Given the description of an element on the screen output the (x, y) to click on. 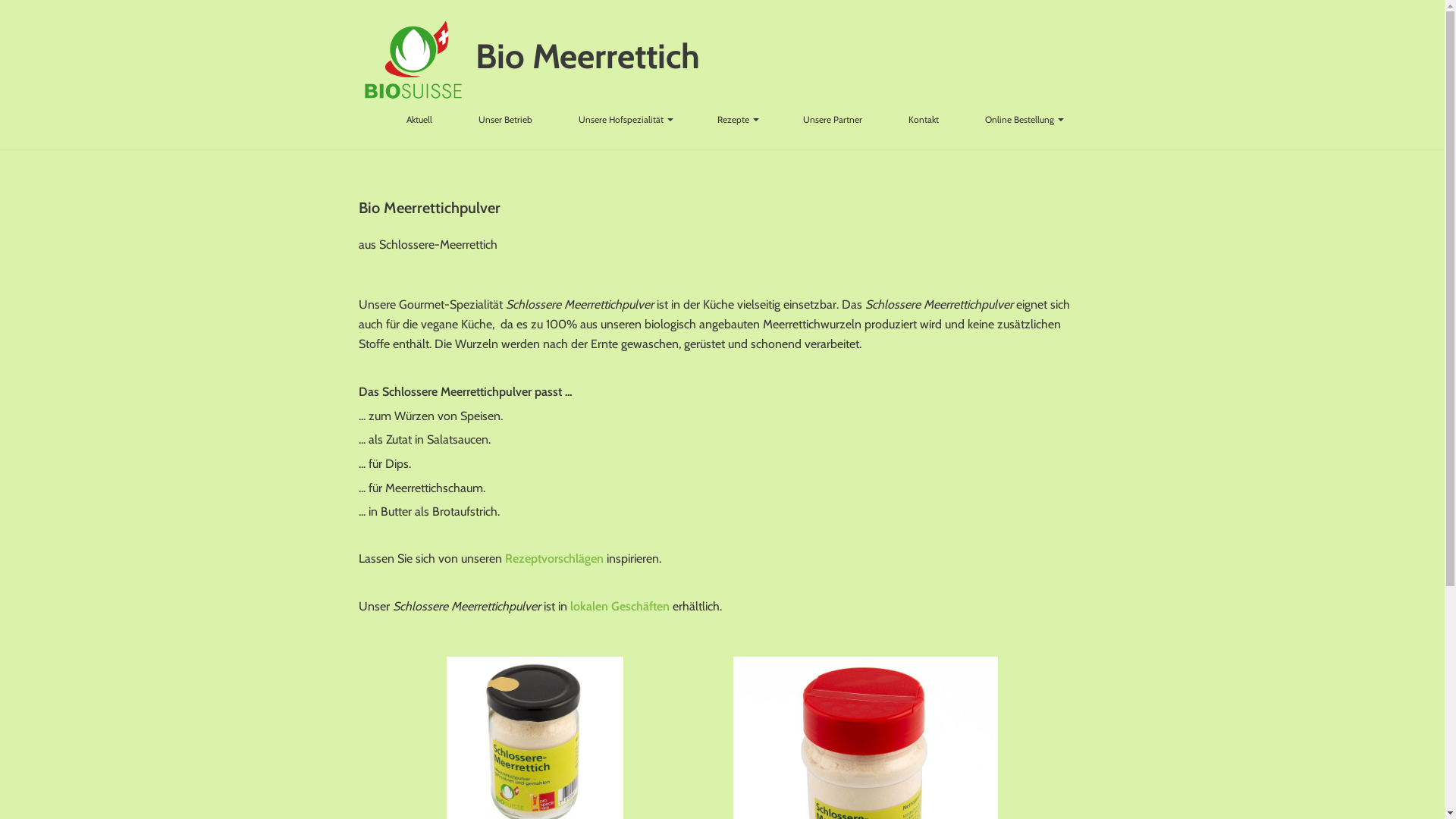
Unsere Partner Element type: text (831, 119)
Unser Betrieb Element type: text (504, 119)
Kontakt Element type: text (923, 119)
Aktuell Element type: text (418, 119)
Bio Meerrettich Element type: text (586, 55)
